Given the description of an element on the screen output the (x, y) to click on. 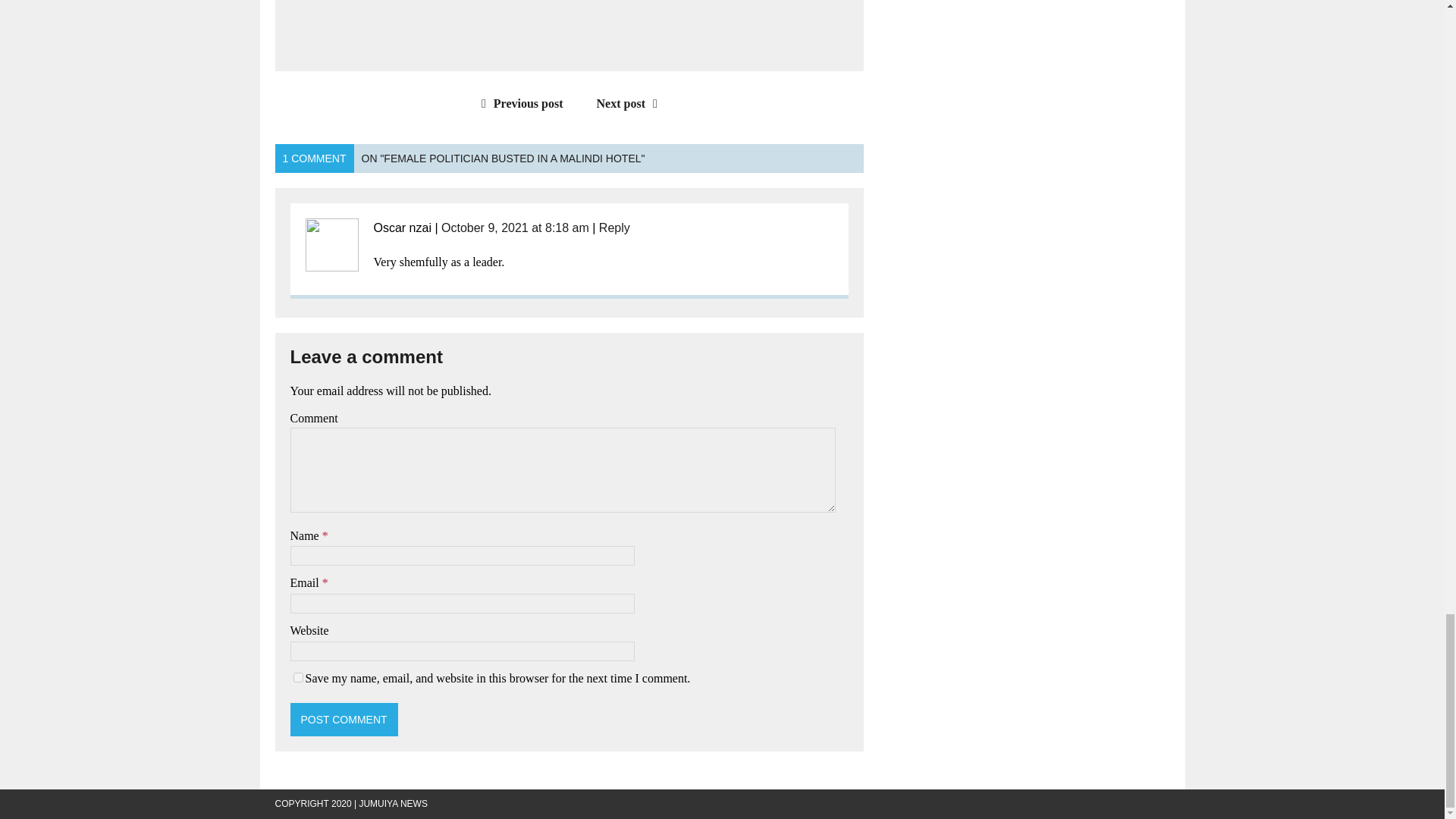
Reply (614, 227)
Next post (630, 103)
October 9, 2021 at 8:18 am (515, 227)
yes (297, 676)
Previous post (518, 103)
Post Comment (343, 719)
Post Comment (343, 719)
